Given the description of an element on the screen output the (x, y) to click on. 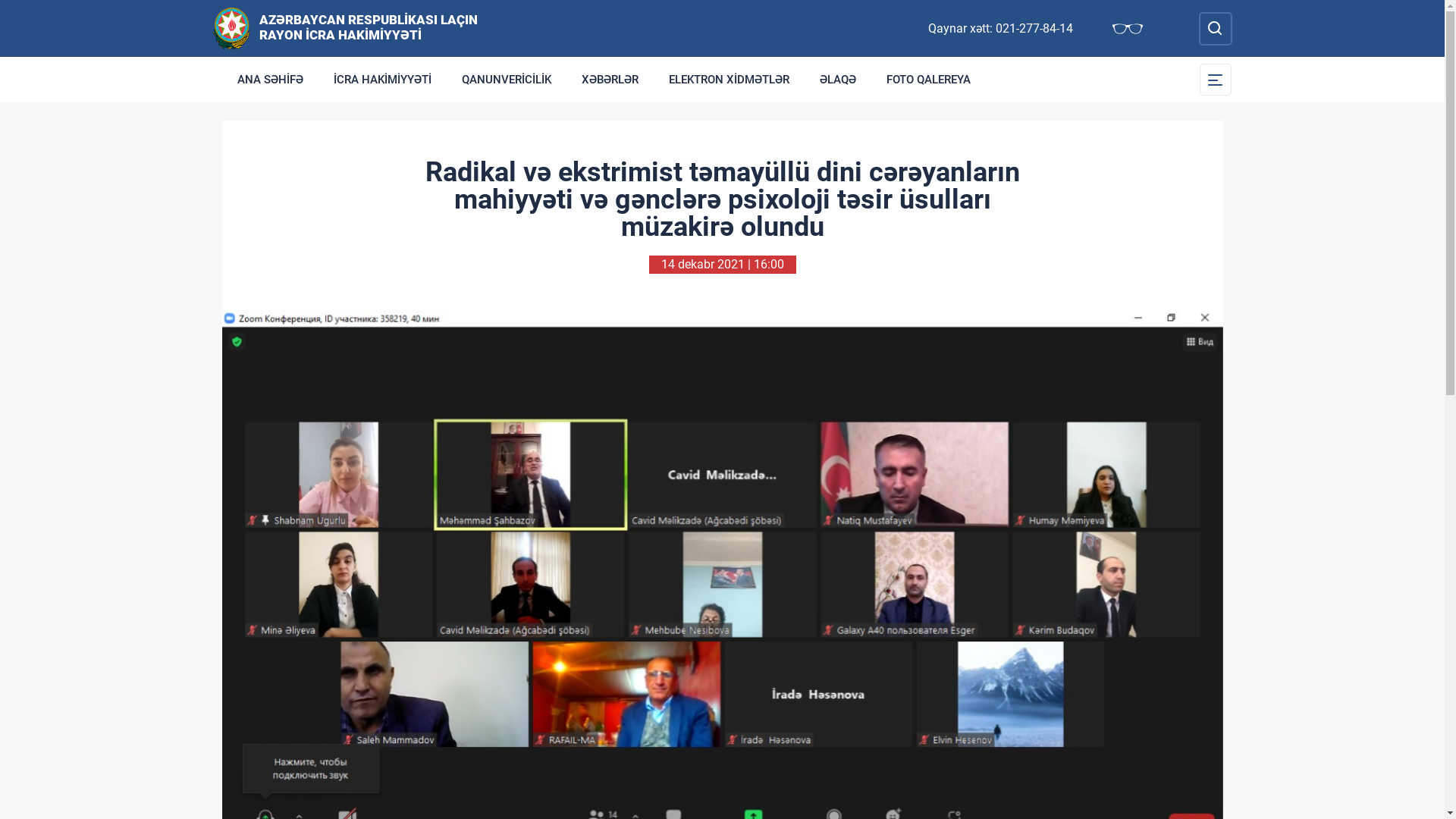
FOTO QALEREYA Element type: text (927, 79)
QANUNVERICILIK Element type: text (505, 79)
